Given the description of an element on the screen output the (x, y) to click on. 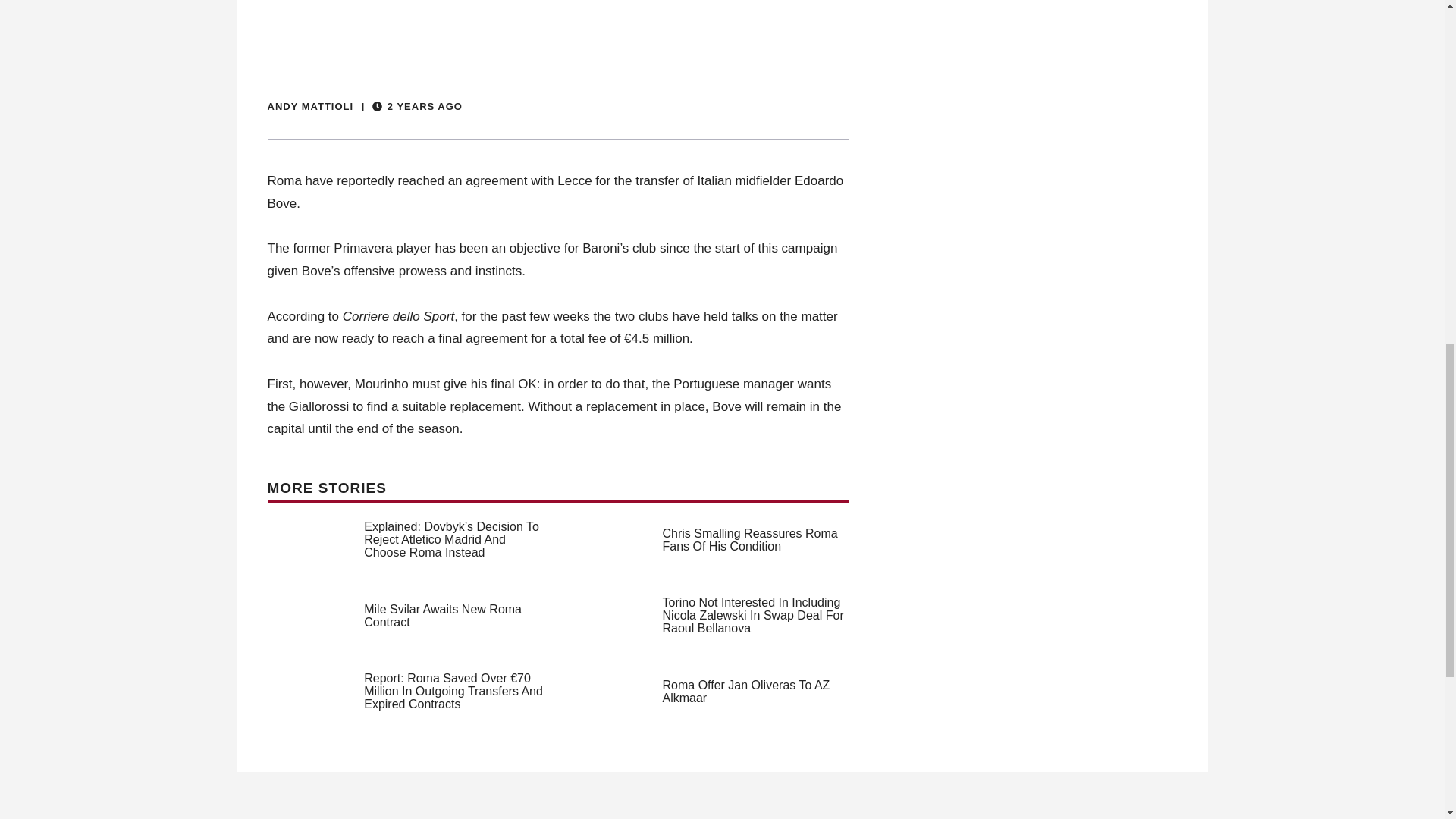
Roma Offer Jan Oliveras To AZ Alkmaar (745, 691)
Chris Smalling Reassures Roma Fans Of His Condition (750, 539)
Mile Svilar Awaits New Roma Contract (442, 615)
